Given the description of an element on the screen output the (x, y) to click on. 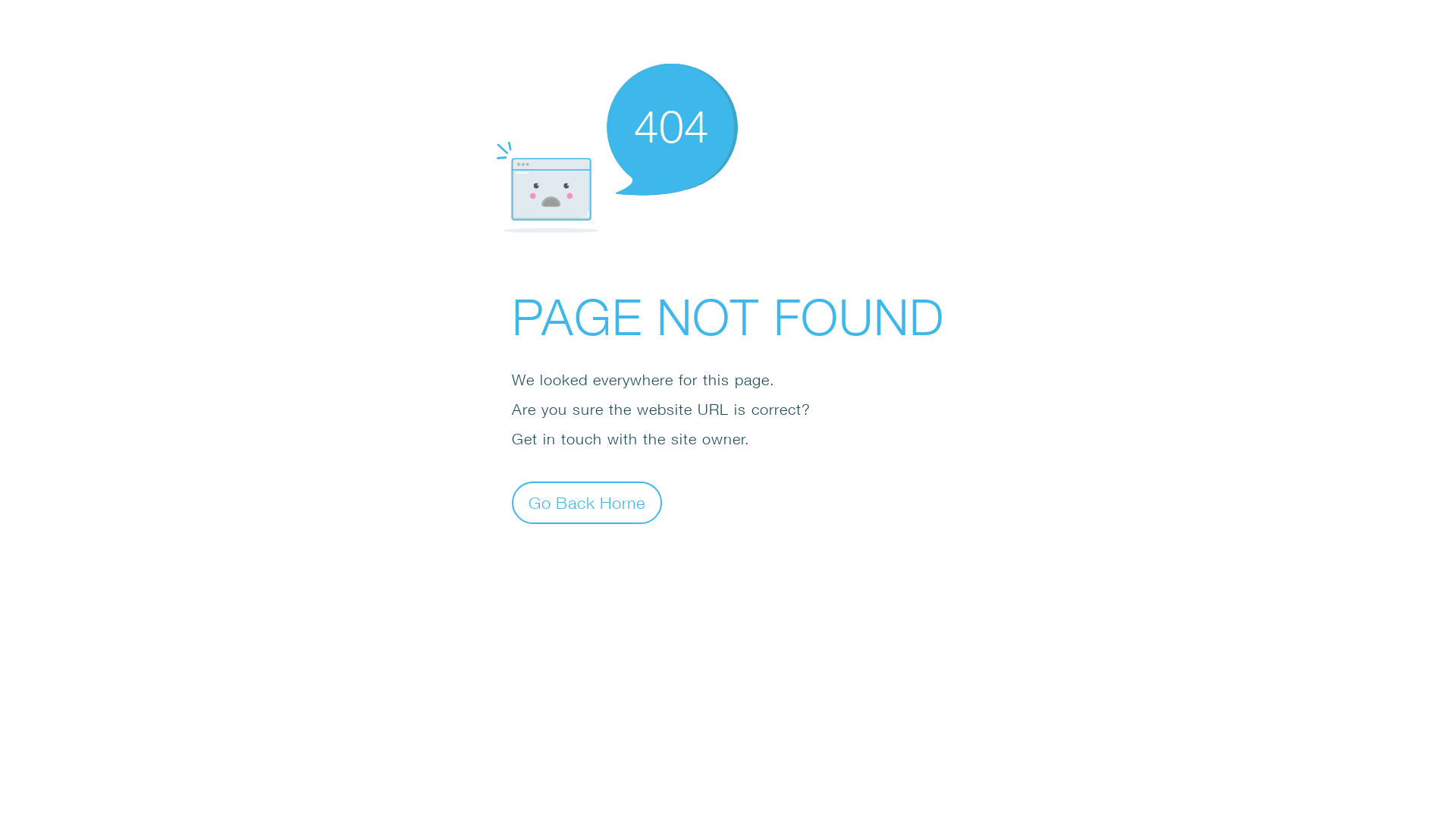
Go Back Home Element type: text (586, 502)
